Given the description of an element on the screen output the (x, y) to click on. 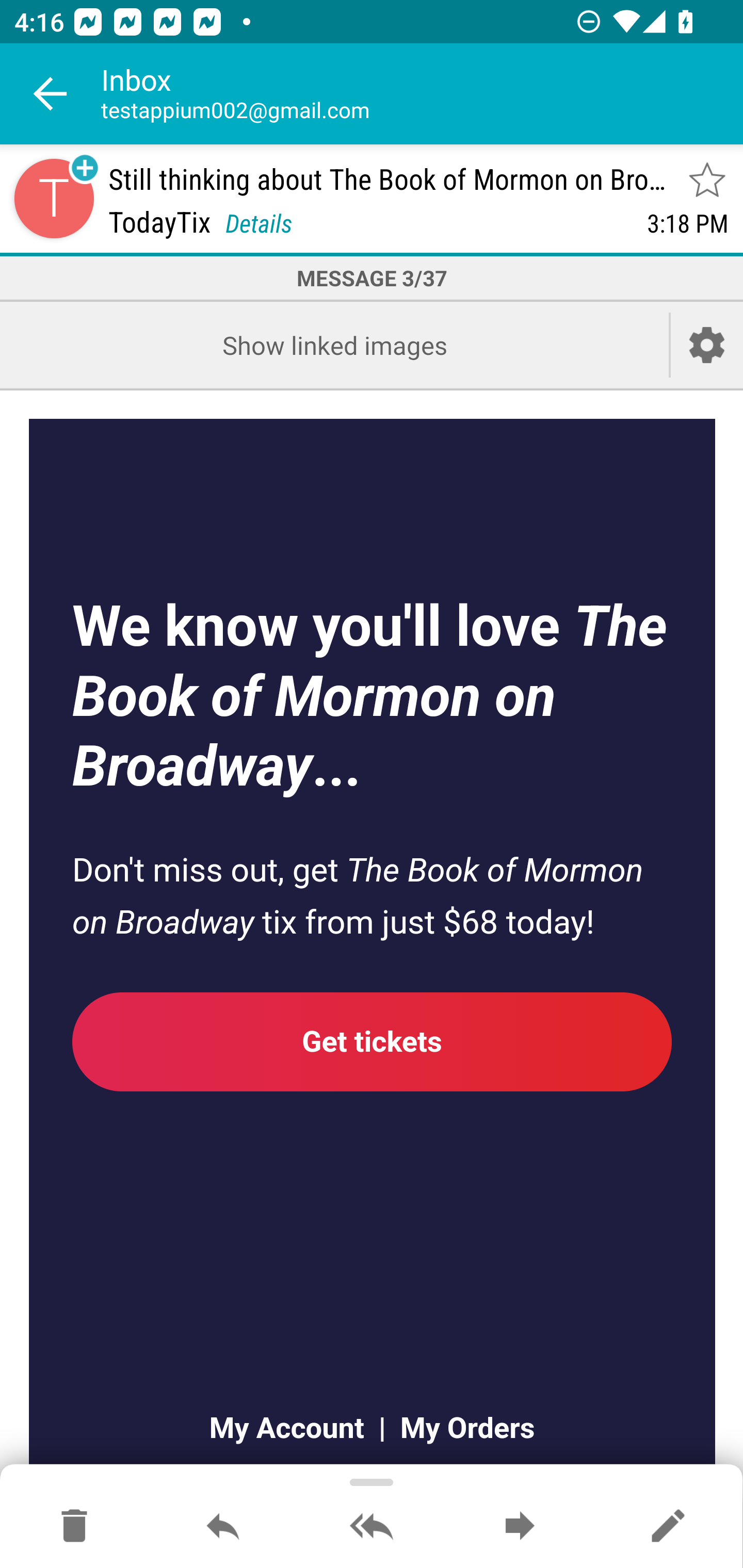
Navigate up (50, 93)
Inbox testappium002@gmail.com (422, 93)
Sender contact button (53, 198)
Show linked images (334, 344)
Account setup (706, 344)
Get tickets (372, 1040)
My Account  | (296, 1427)
  My Orders (460, 1427)
Move to Deleted (74, 1527)
Reply (222, 1527)
Reply all (371, 1527)
Forward (519, 1527)
Reply as new (667, 1527)
